Given the description of an element on the screen output the (x, y) to click on. 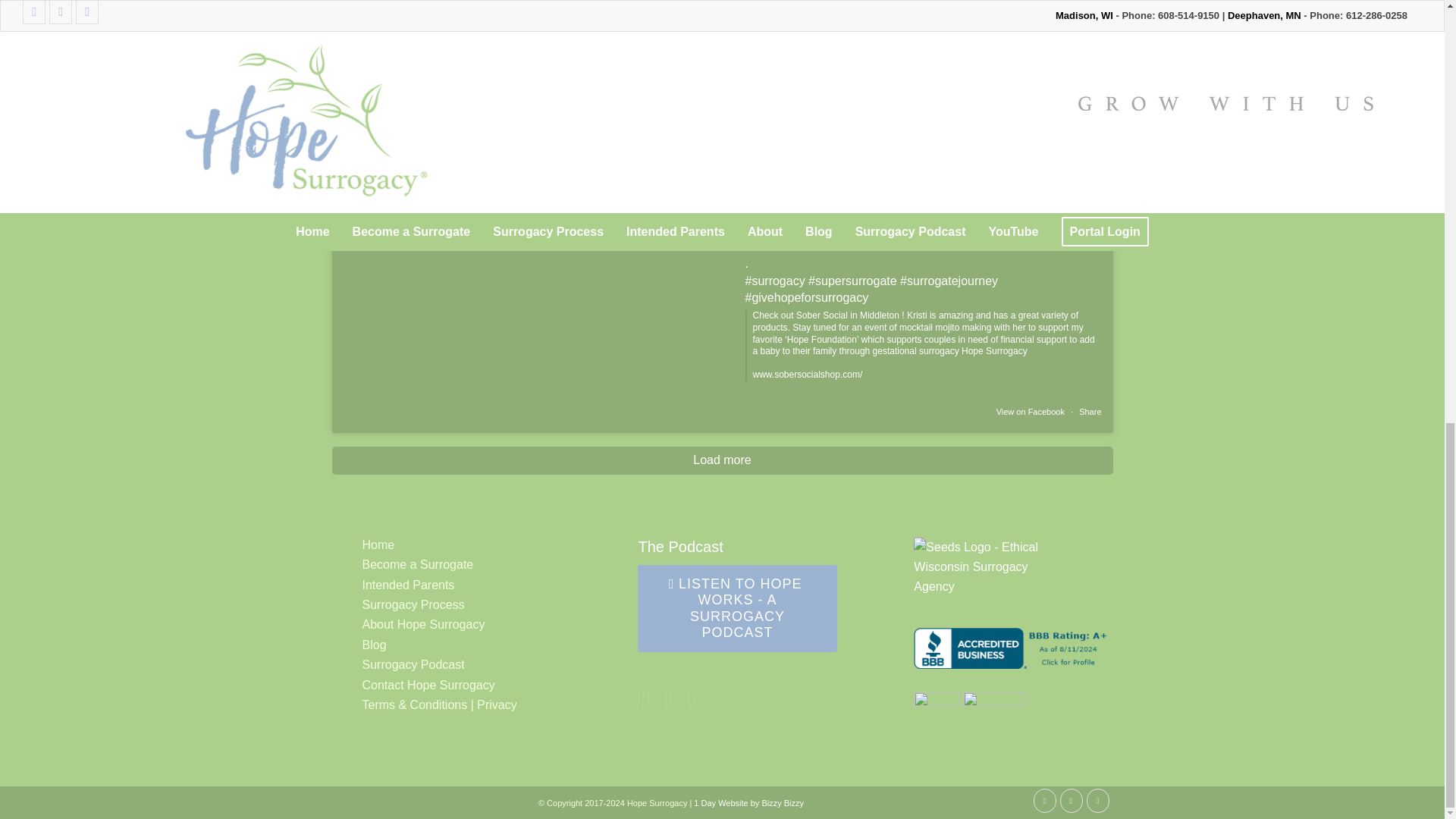
Are you interested in becoming a surrogate? (721, 21)
BECOME A SURROGATE (623, 57)
Cornerstone Spa and Boutique (930, 195)
LEARN ABOUT THE PROCESS (805, 57)
View on Facebook (1031, 411)
Share (1089, 411)
Hope Surrogacy (823, 154)
Give Hope, A Surrogacy Foundation (1000, 212)
